Given the description of an element on the screen output the (x, y) to click on. 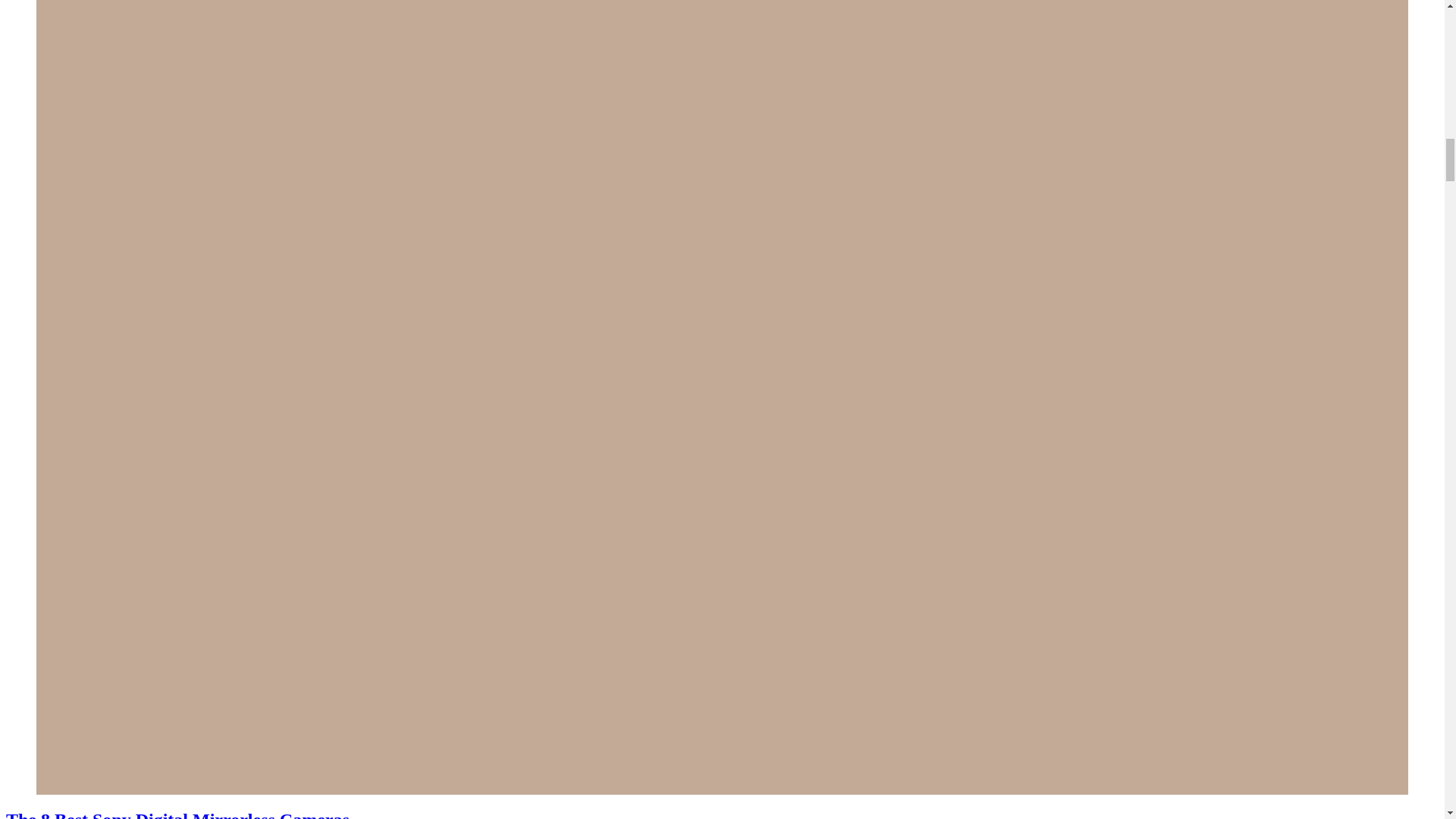
The 8 Best Sony Digital Mirrorless Cameras (177, 814)
